Given the description of an element on the screen output the (x, y) to click on. 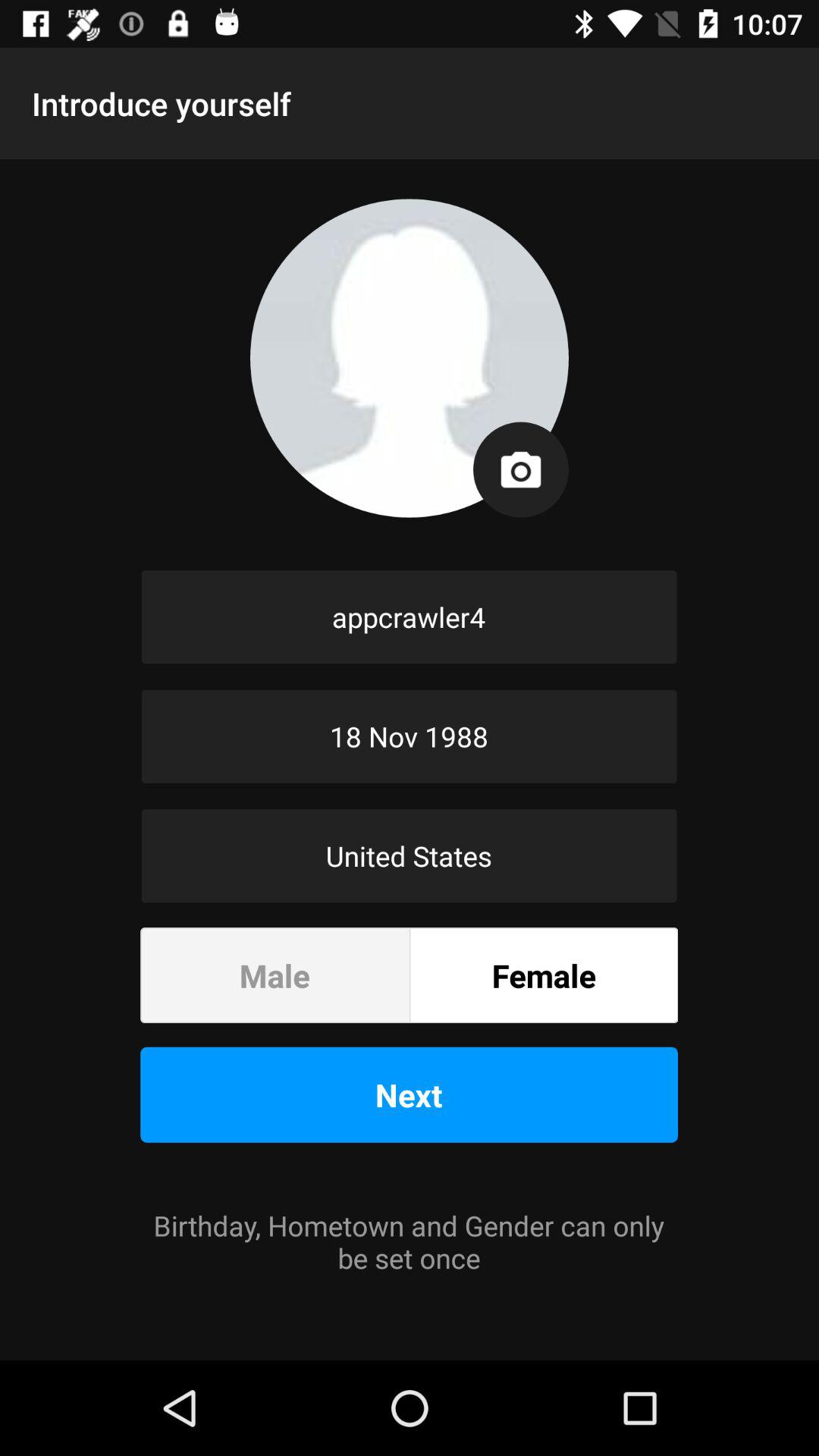
click the icon above the birthday hometown and icon (408, 1094)
